Given the description of an element on the screen output the (x, y) to click on. 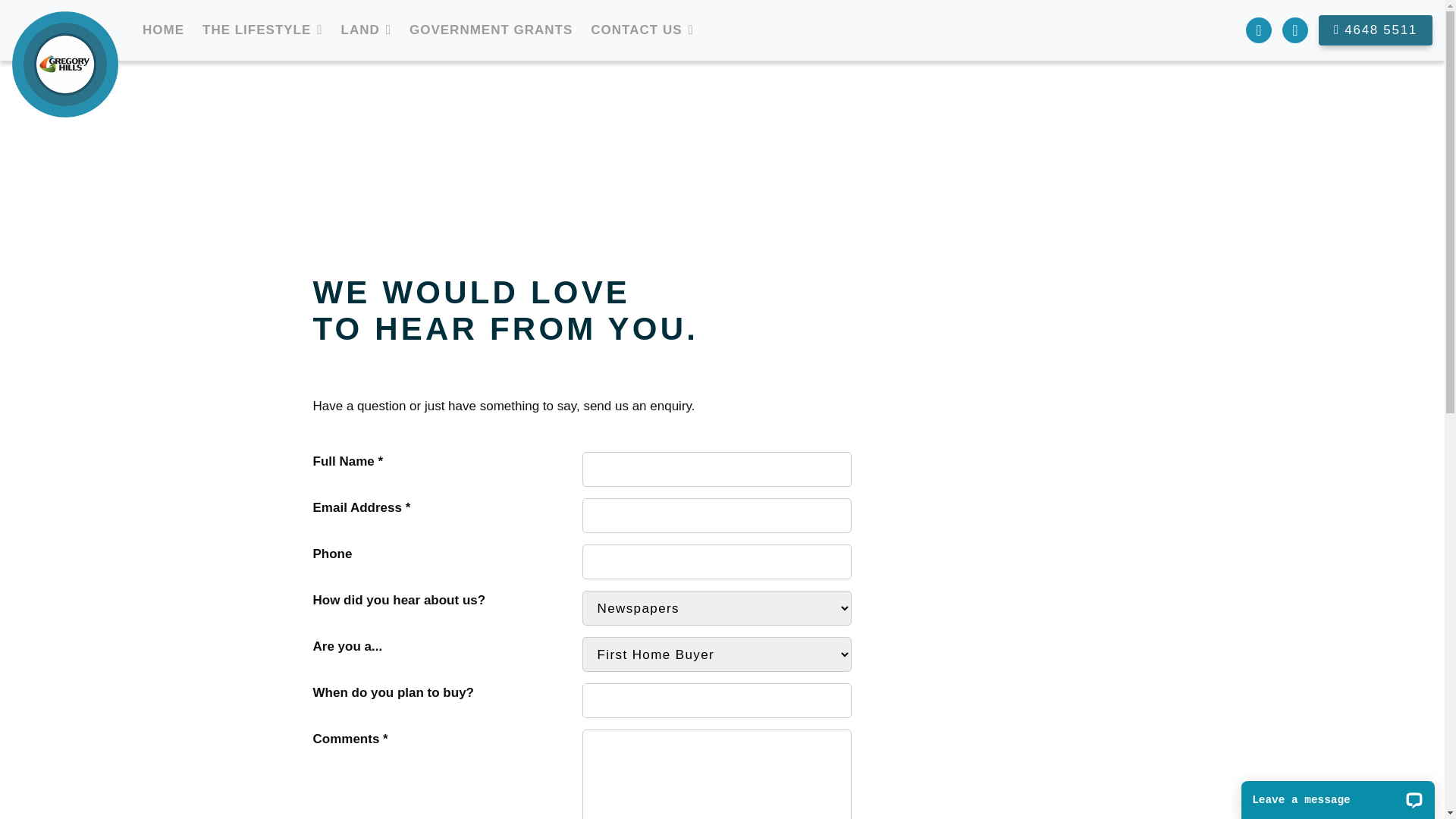
GOVERNMENT GRANTS Element type: text (490, 30)
HOME Element type: text (163, 30)
LAND Element type: text (360, 30)
CONTACT US Element type: text (635, 30)
THE LIFESTYLE Element type: text (256, 30)
4648 5511 Element type: text (1375, 30)
